Given the description of an element on the screen output the (x, y) to click on. 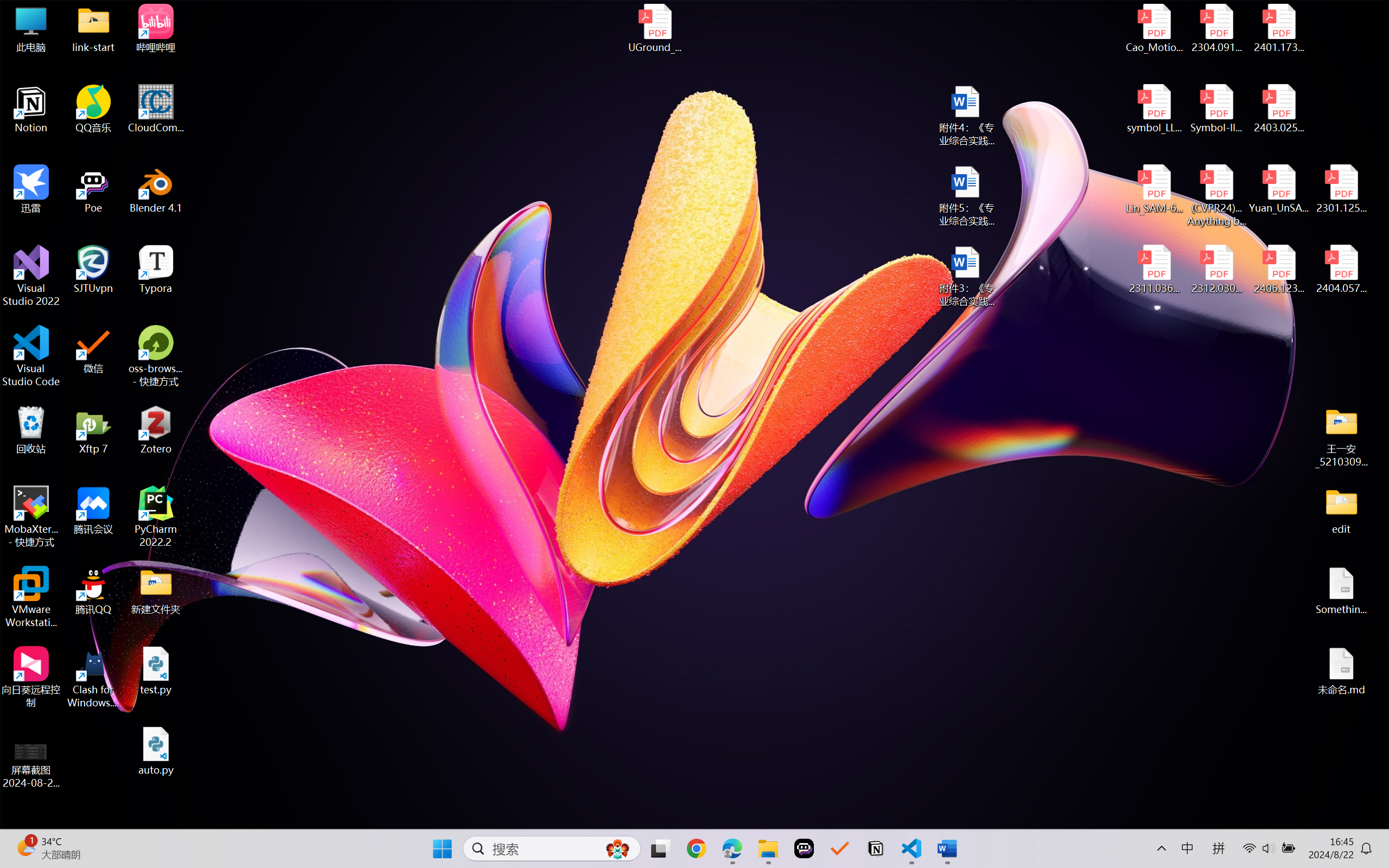
2301.12597v3.pdf (1340, 189)
UGround_paper.pdf (654, 28)
2404.05719v1.pdf (1340, 269)
SJTUvpn (93, 269)
2406.12373v2.pdf (1278, 269)
Visual Studio Code (31, 355)
Symbol-llm-v2.pdf (1216, 109)
